Given the description of an element on the screen output the (x, y) to click on. 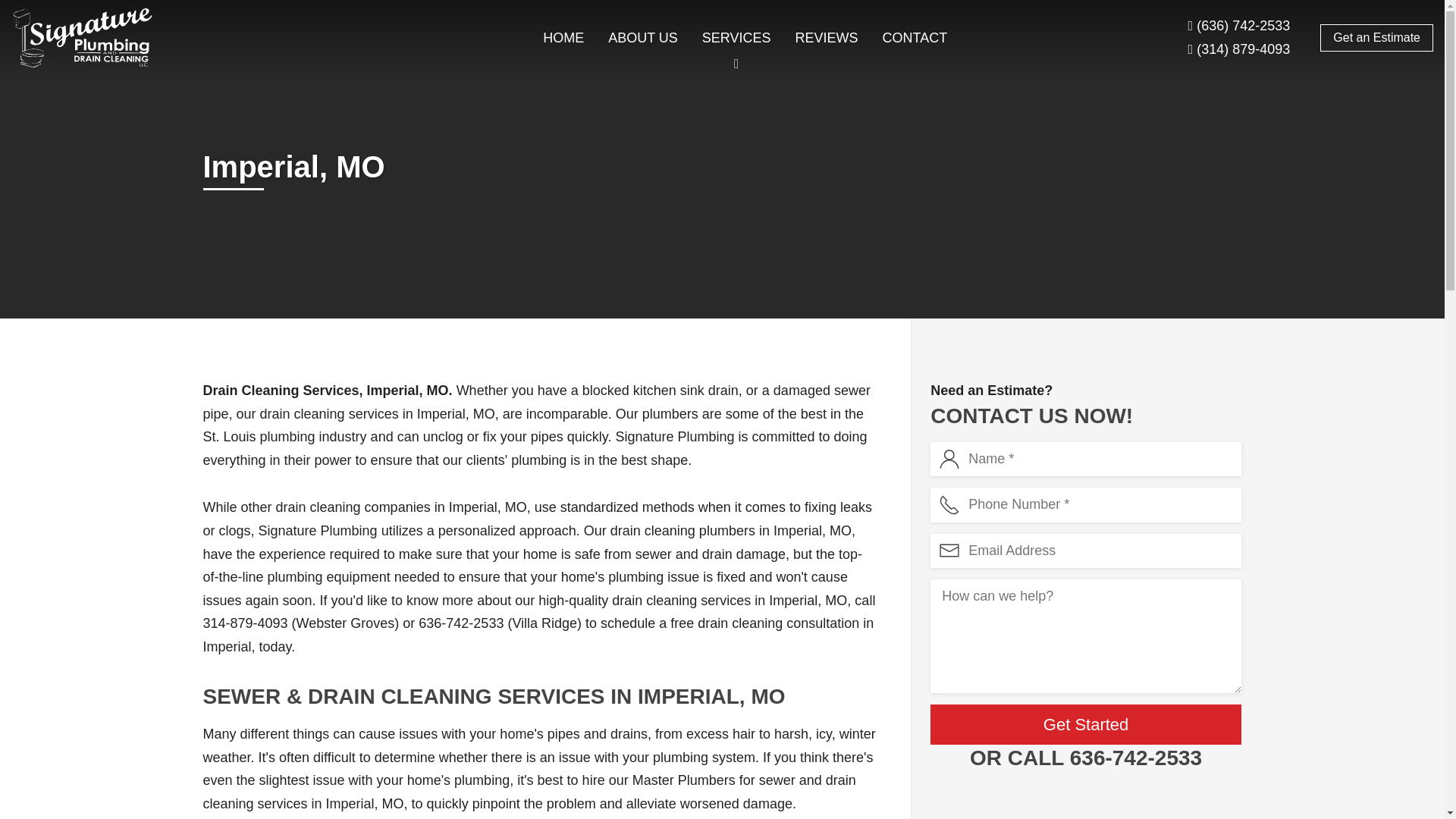
Get Started (1085, 724)
CONTACT (914, 38)
Get an Estimate (1376, 37)
REVIEWS (826, 38)
SERVICES (736, 38)
ABOUT US (642, 38)
